Given the description of an element on the screen output the (x, y) to click on. 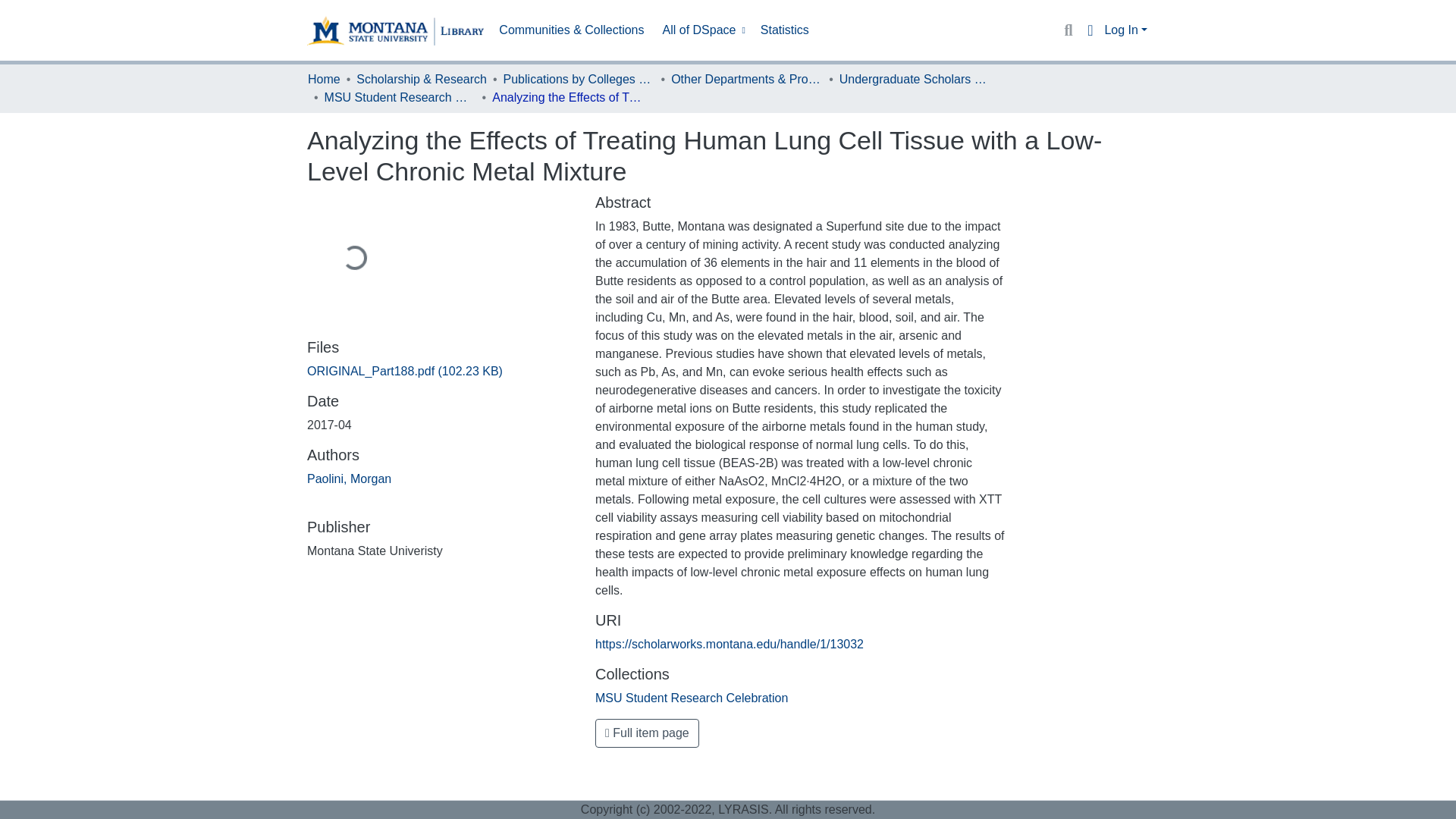
All of DSpace (702, 30)
Paolini, Morgan (349, 478)
MSU Student Research Celebration (400, 97)
Language switch (1089, 30)
MSU Student Research Celebration (691, 697)
Full item page (646, 733)
Home (323, 79)
Undergraduate Scholars Program (915, 79)
Search (1067, 30)
Log In (1125, 29)
Statistics (784, 30)
